Given the description of an element on the screen output the (x, y) to click on. 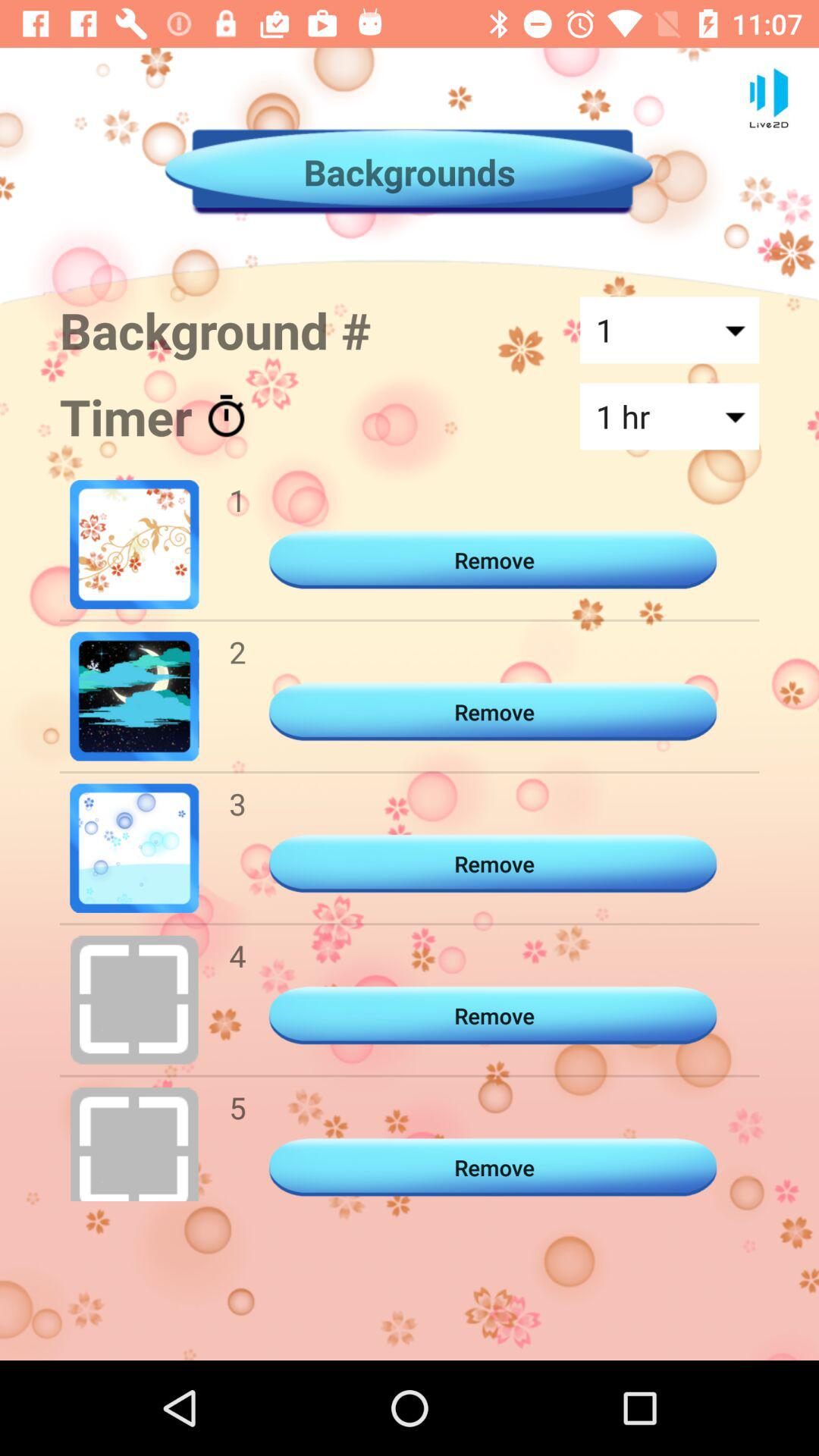
open the item next to remove icon (237, 955)
